Given the description of an element on the screen output the (x, y) to click on. 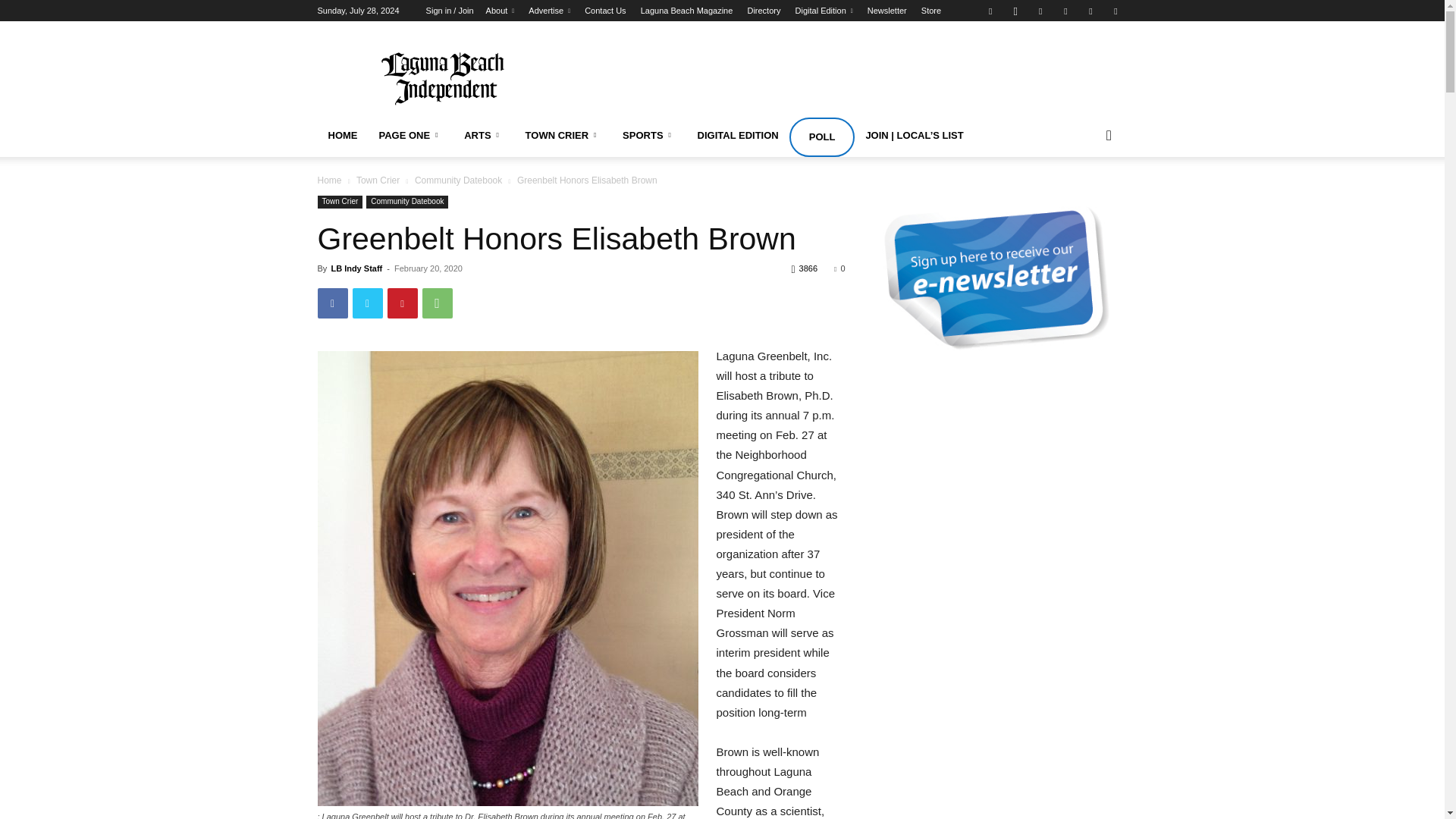
RSS (1065, 10)
Linkedin (1040, 10)
Facebook (332, 303)
Twitter (1090, 10)
View all posts in Town Crier (377, 180)
Youtube (1114, 10)
Facebook (989, 10)
View all posts in Community Datebook (458, 180)
Instagram (1015, 10)
